Given the description of an element on the screen output the (x, y) to click on. 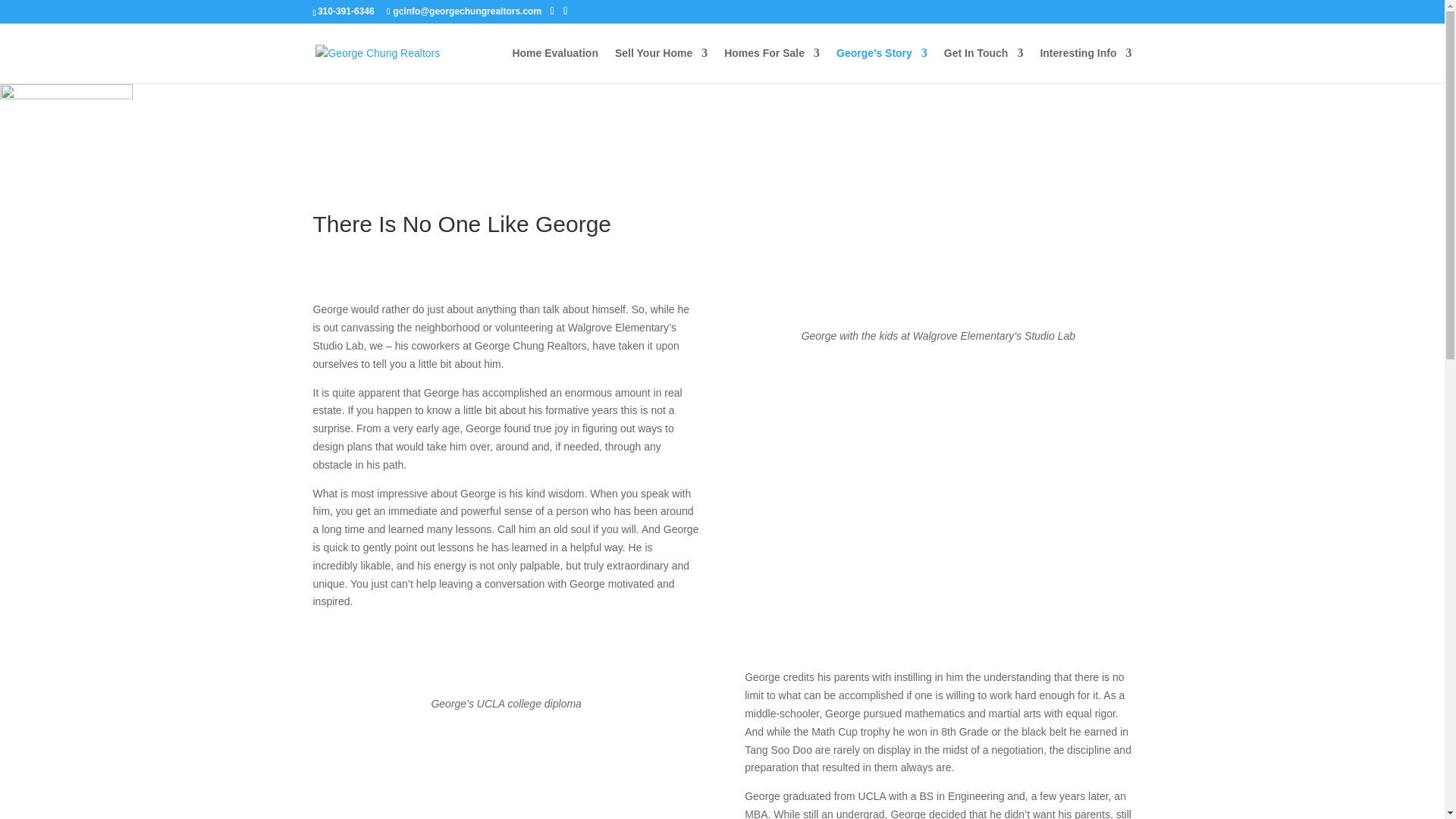
Interesting Info (1085, 65)
Get In Touch (983, 65)
Home Evaluation (555, 65)
Homes For Sale (771, 65)
Sell Your Home (660, 65)
310-391-6346 (345, 10)
